Given the description of an element on the screen output the (x, y) to click on. 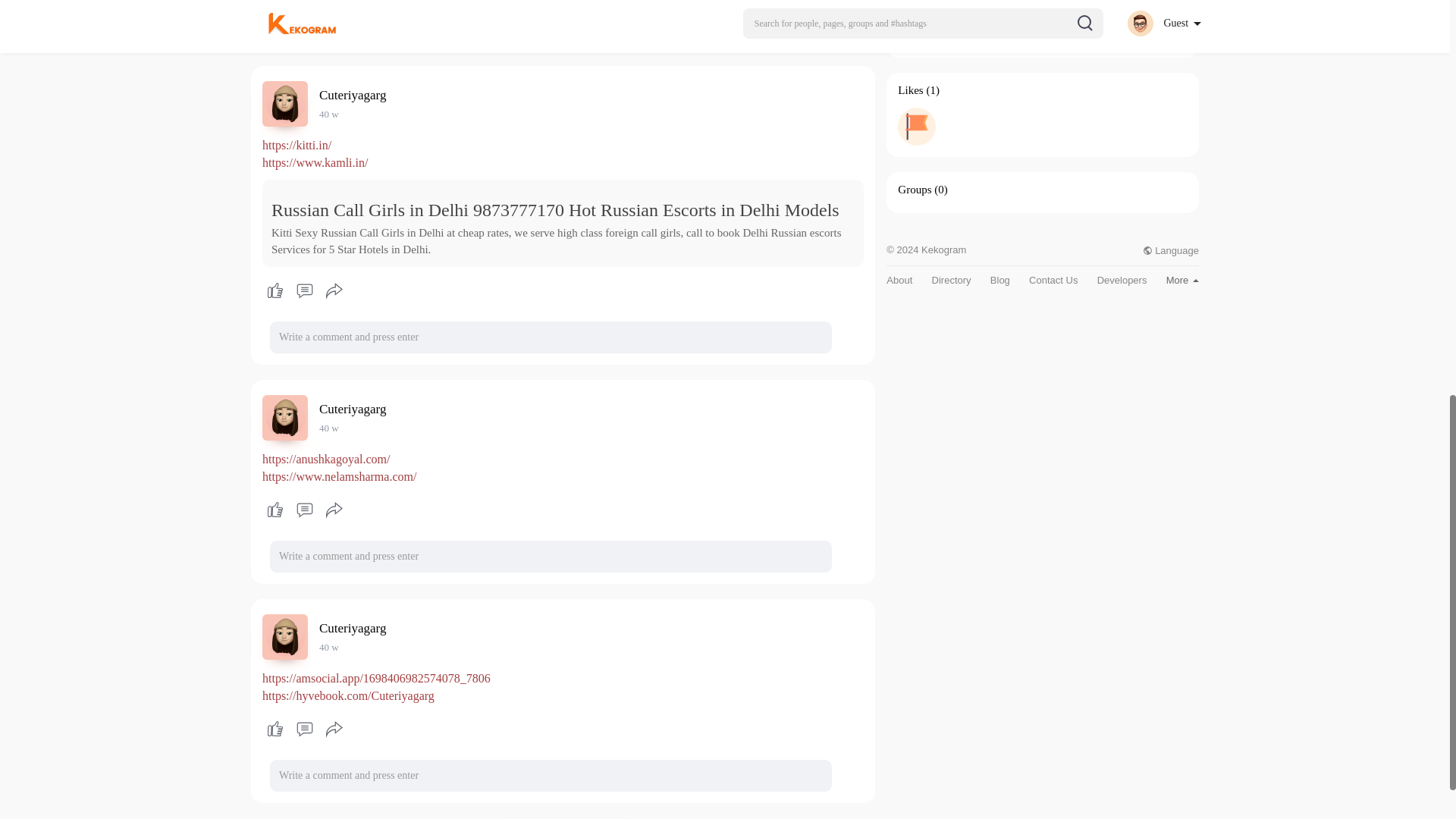
40 w (328, 646)
Cuteriyagarg (354, 409)
40 w (328, 113)
Share (334, 290)
Comments (304, 510)
40 w (328, 646)
Comments (304, 729)
40 w (328, 113)
Cuteriyagarg (354, 627)
